Given the description of an element on the screen output the (x, y) to click on. 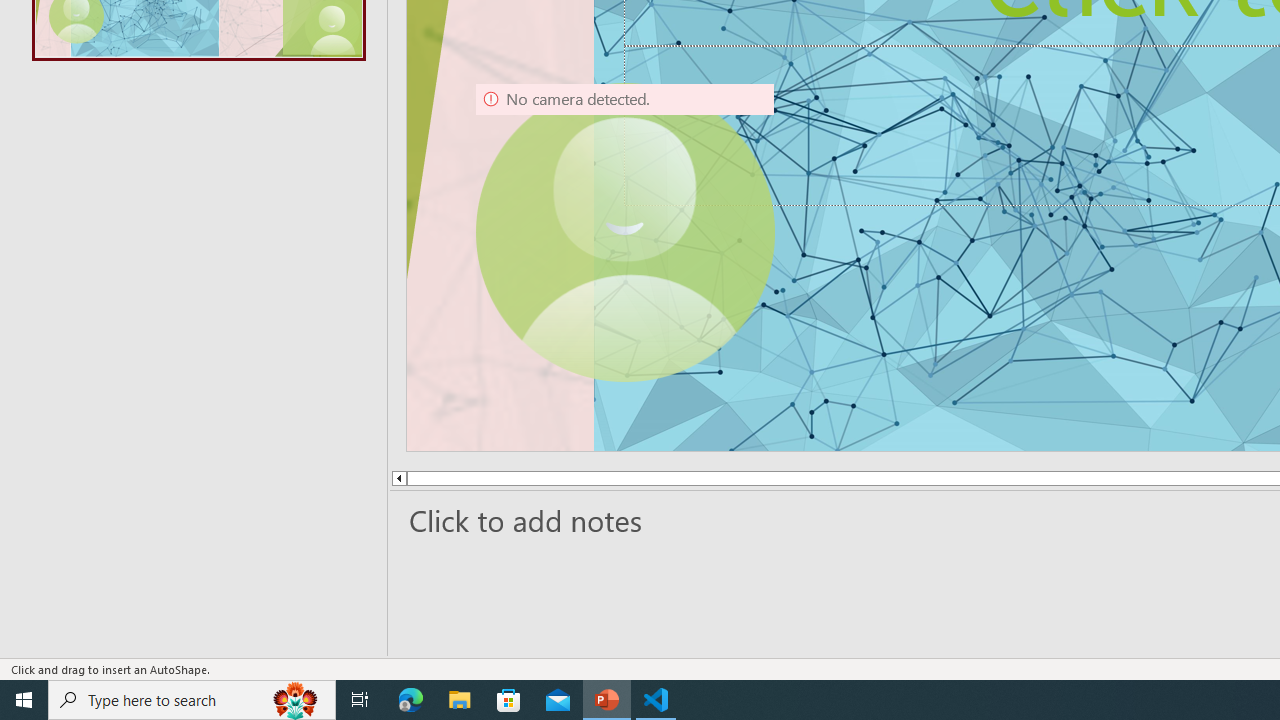
Camera 9, No camera detected. (624, 232)
